Given the description of an element on the screen output the (x, y) to click on. 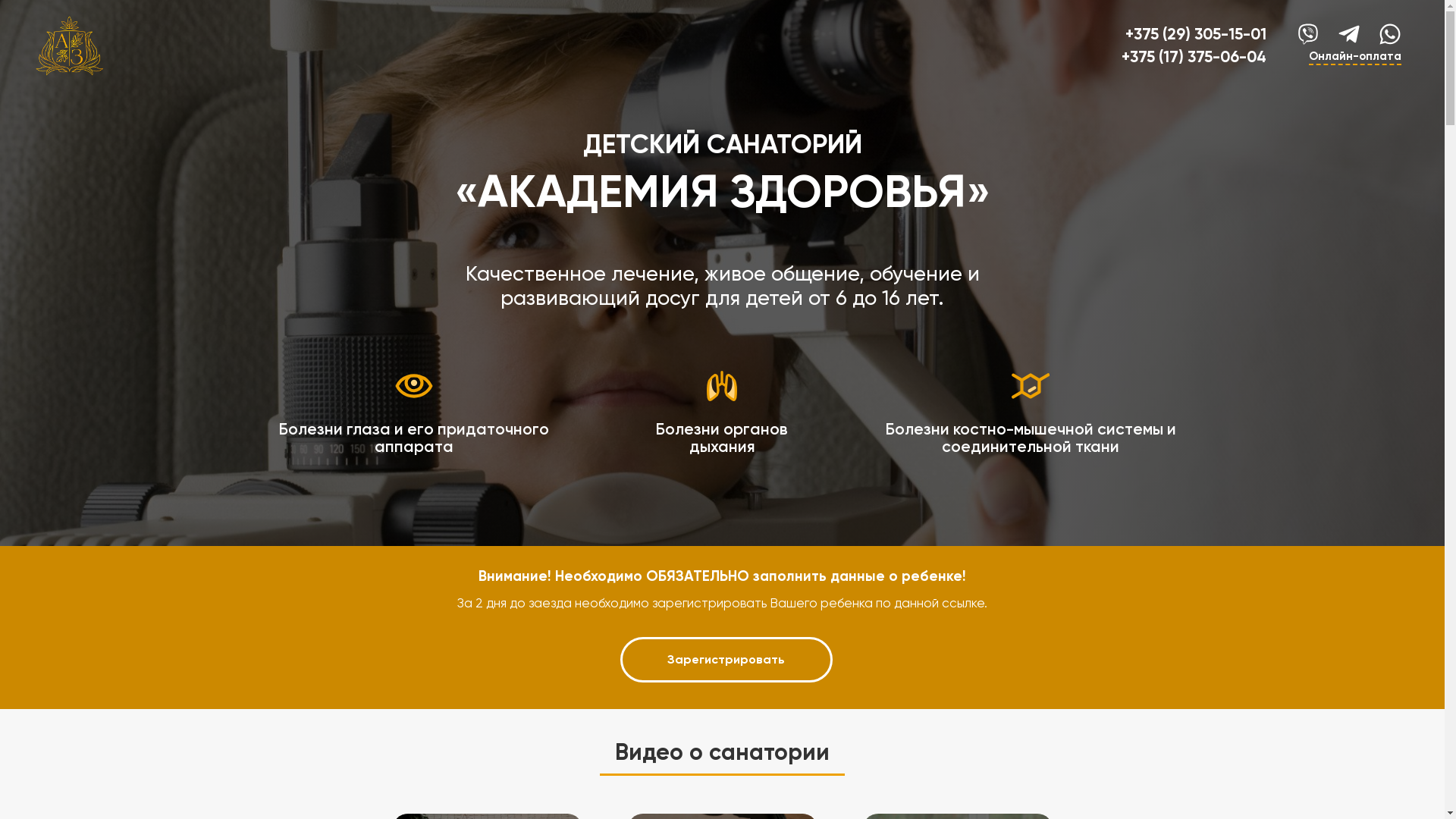
+375 (29) 305-15-01 Element type: text (1195, 33)
+375 (17) 375-06-04 Element type: text (1193, 56)
